Given the description of an element on the screen output the (x, y) to click on. 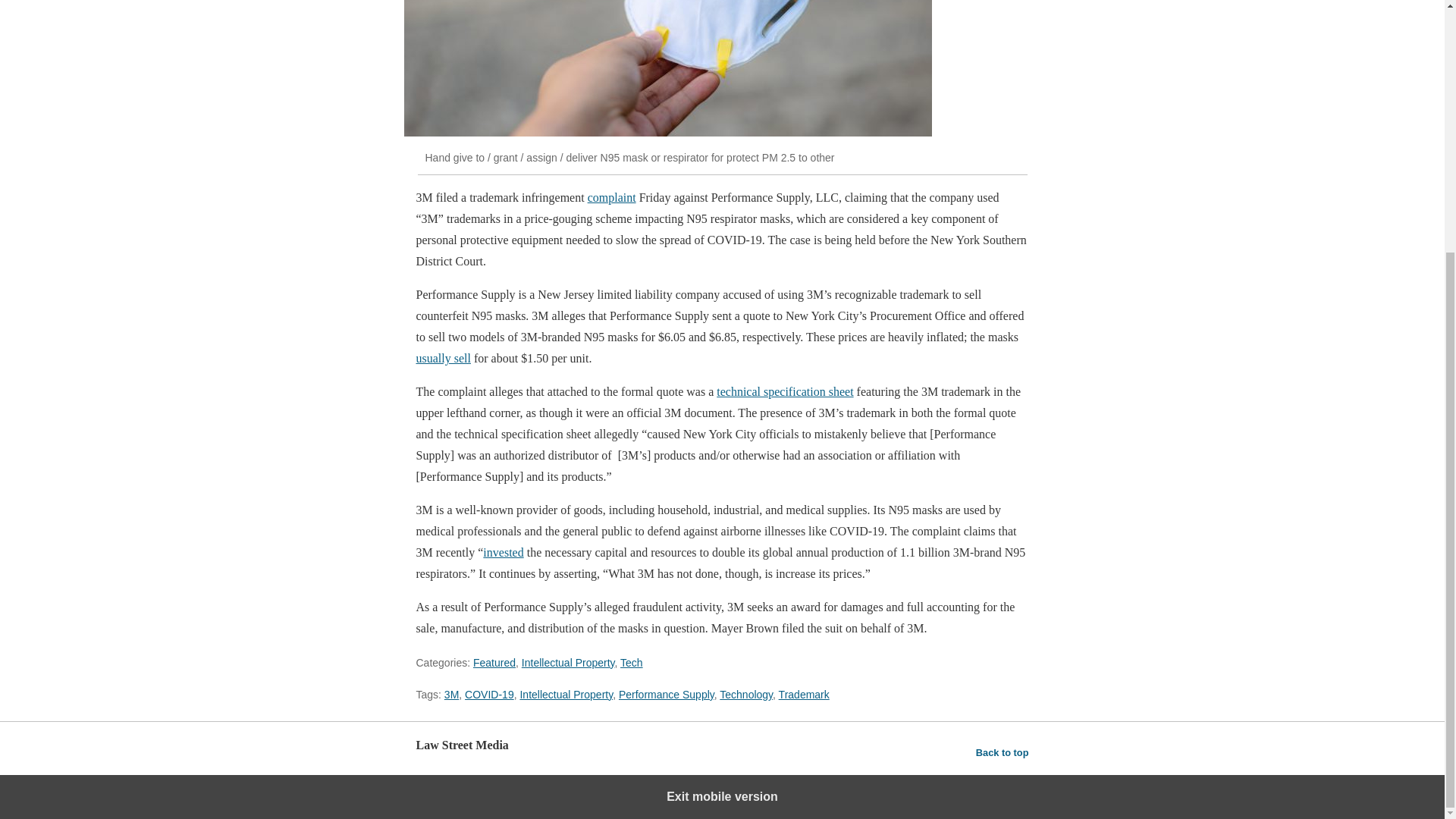
Performance Supply (666, 694)
Intellectual Property (567, 662)
COVID-19 (488, 694)
technical specification sheet (784, 391)
3M (451, 694)
Tech (631, 662)
usually sell (442, 358)
complaint (612, 196)
Intellectual Property (565, 694)
invested (502, 552)
